Given the description of an element on the screen output the (x, y) to click on. 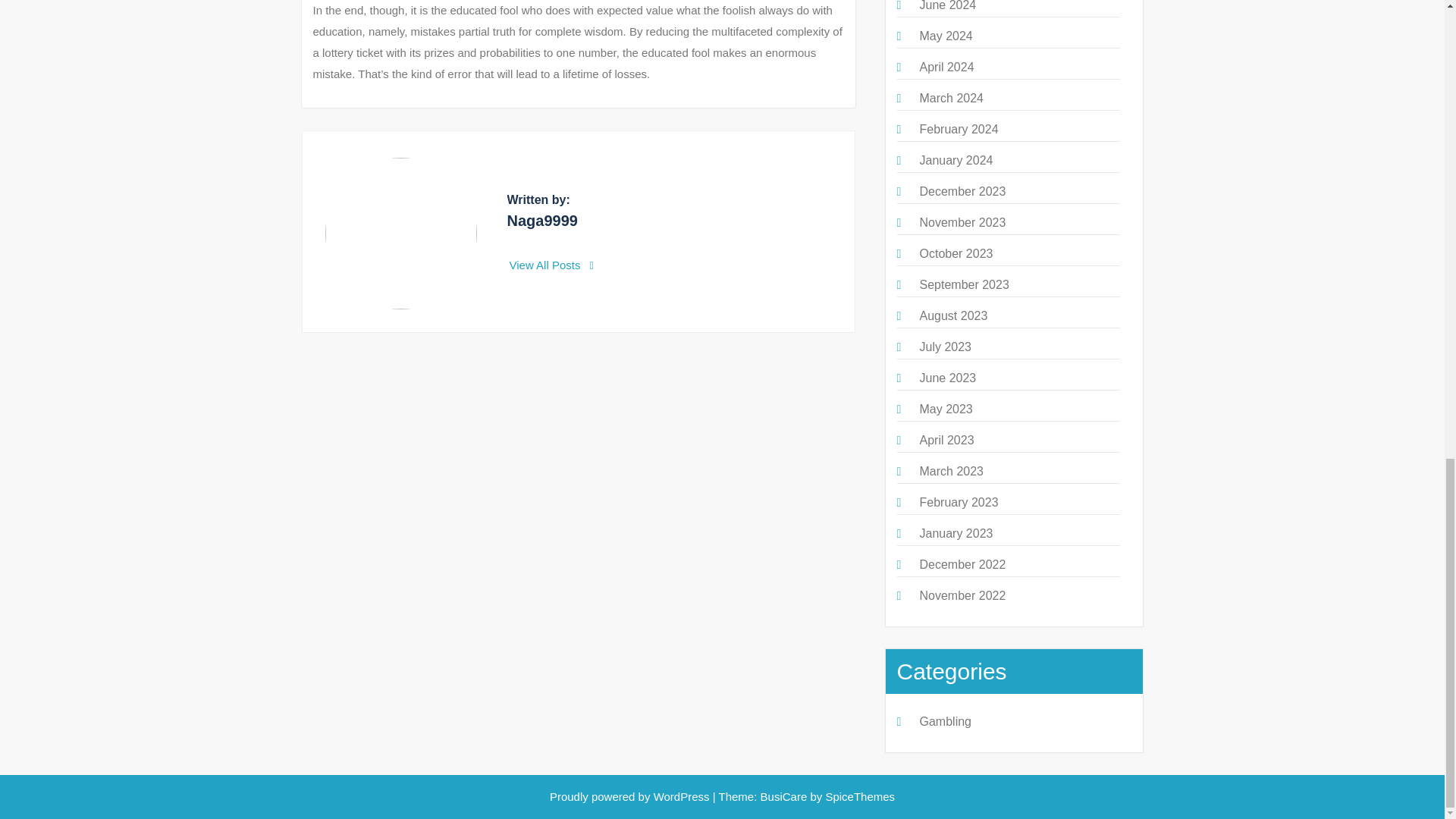
June 2023 (946, 377)
June 2024 (946, 5)
November 2023 (962, 222)
May 2024 (945, 35)
August 2023 (952, 315)
January 2023 (955, 533)
July 2023 (944, 346)
May 2023 (945, 408)
January 2024 (955, 160)
October 2023 (955, 253)
April 2024 (946, 66)
March 2023 (951, 471)
February 2024 (957, 128)
March 2024 (951, 97)
September 2023 (963, 284)
